Given the description of an element on the screen output the (x, y) to click on. 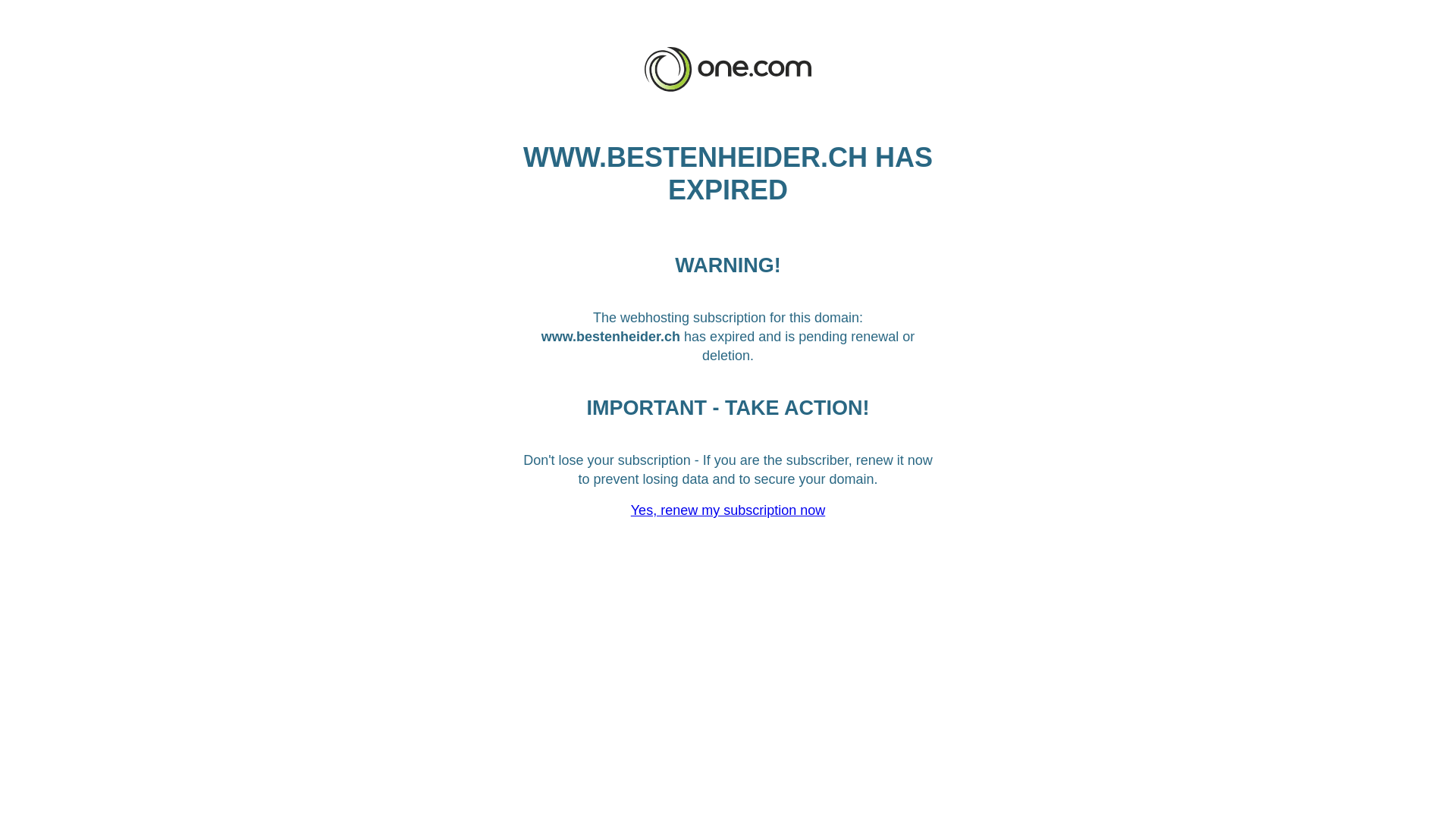
Yes, renew my subscription now Element type: text (727, 509)
